Given the description of an element on the screen output the (x, y) to click on. 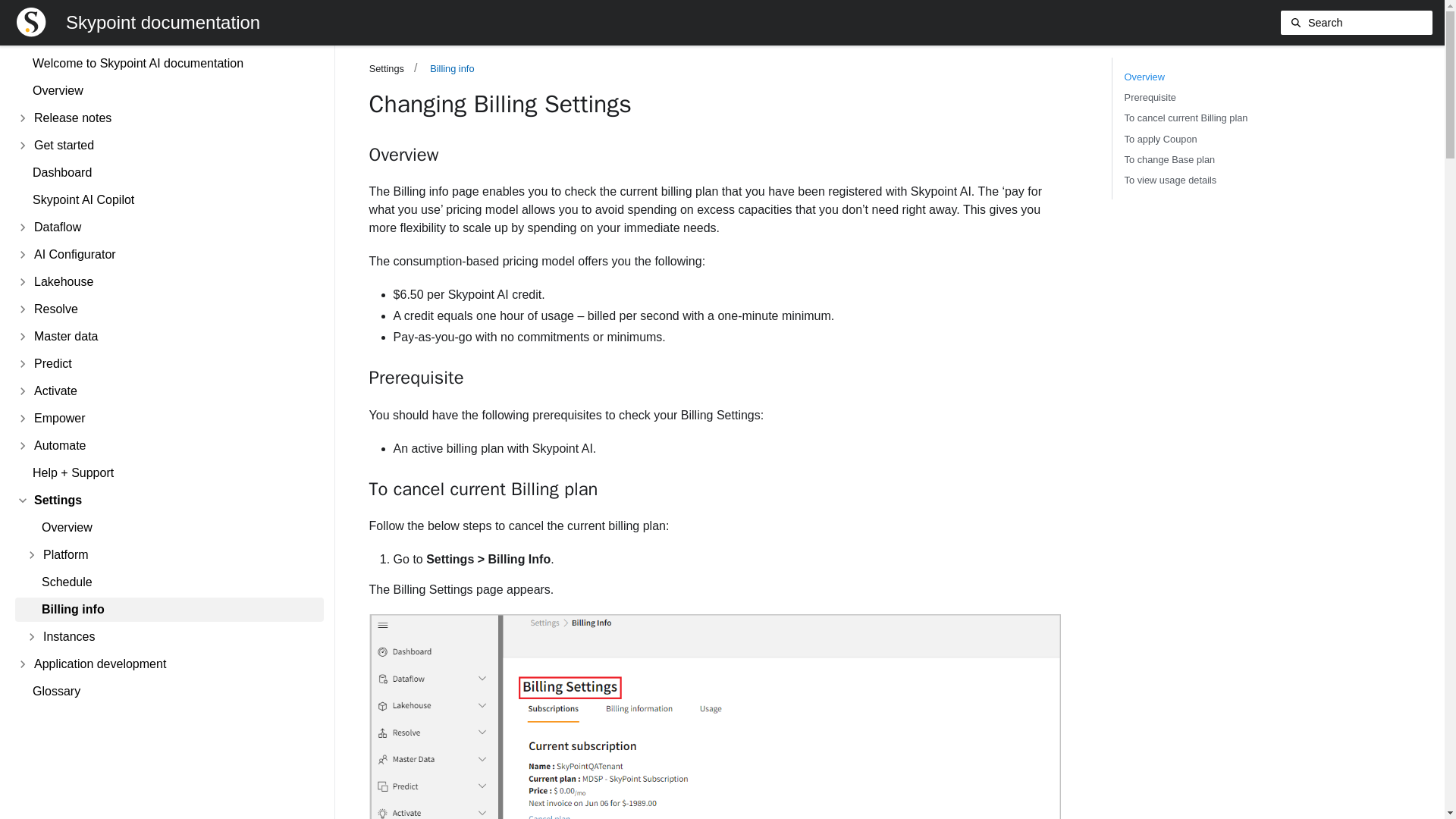
Glossary (164, 691)
Welcome to Skypoint AI documentation (164, 63)
Overview (1231, 76)
Settings (164, 500)
Platform (168, 554)
Release notes (164, 118)
Application development (164, 663)
Instances (168, 636)
Billing info (168, 609)
Predict (164, 363)
Schedule (168, 582)
Skypoint AI Copilot (164, 200)
Empower (164, 418)
Skypoint documentation (162, 22)
